Given the description of an element on the screen output the (x, y) to click on. 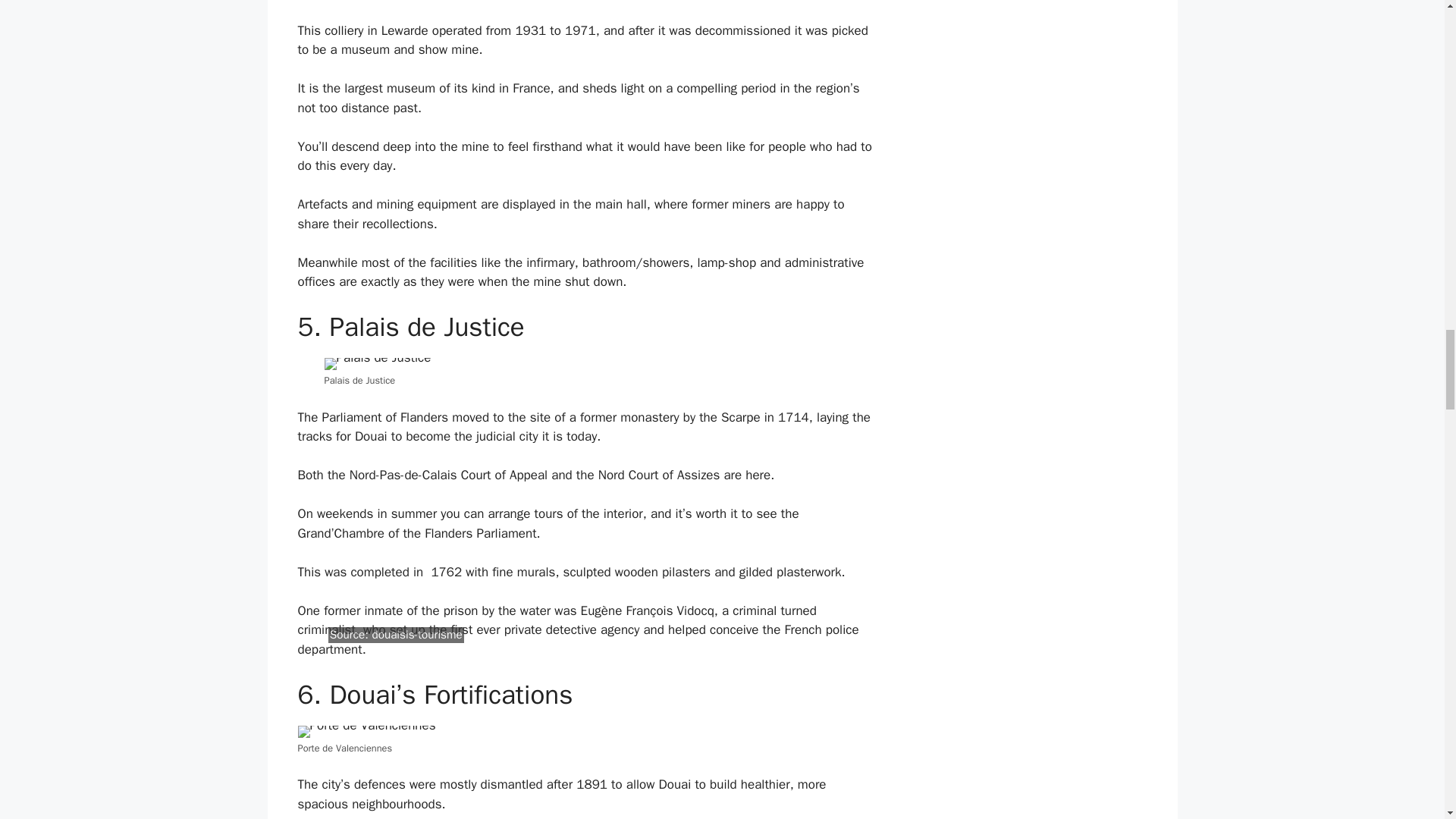
douaisis-tourisme (416, 634)
